Given the description of an element on the screen output the (x, y) to click on. 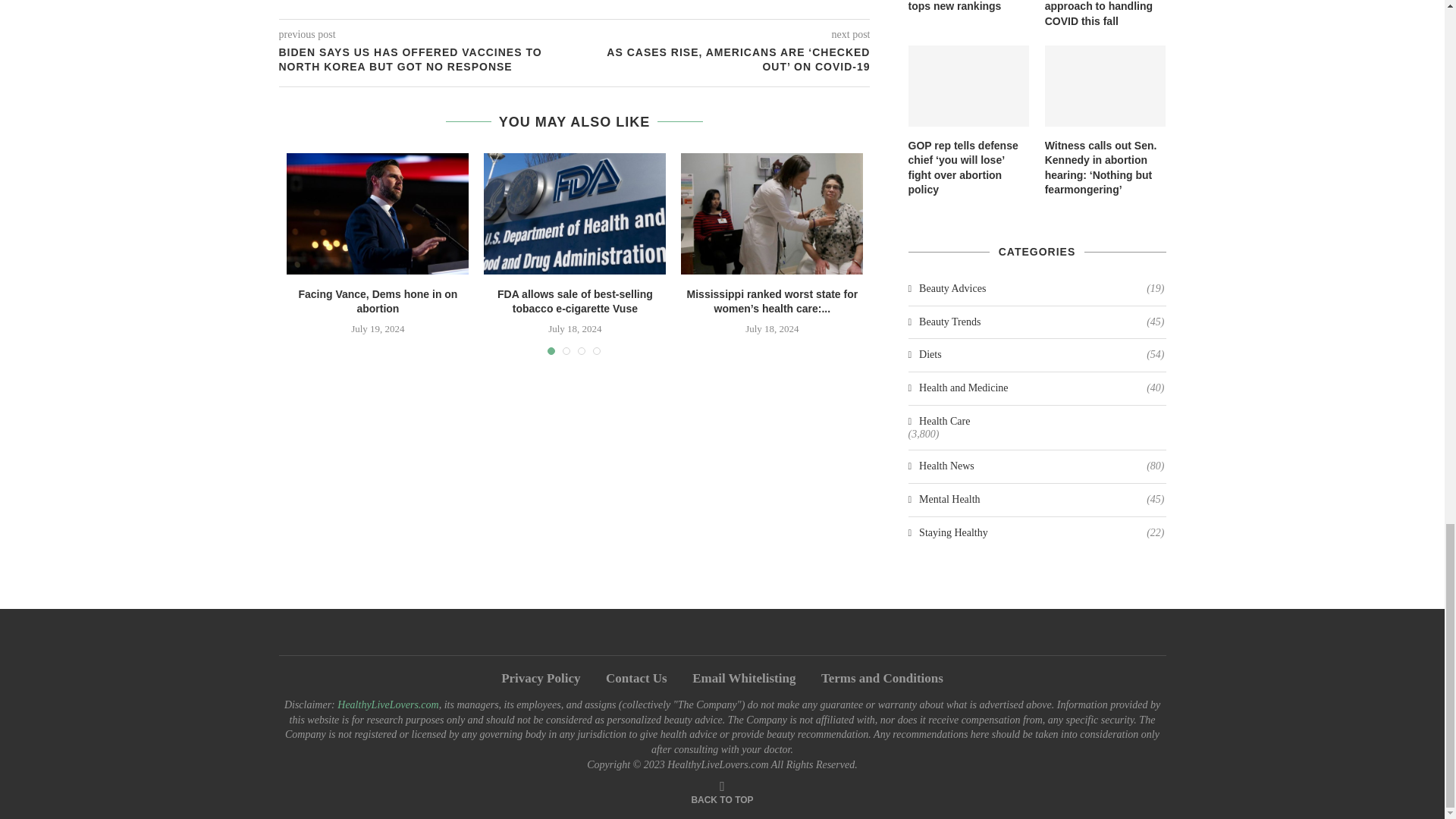
Facing Vance, Dems hone in on abortion (377, 213)
Facing Vance, Dems hone in on abortion (377, 301)
FDA allows sale of best-selling tobacco e-cigarette Vuse (574, 213)
FDA allows sale of best-selling tobacco e-cigarette Vuse (574, 301)
